Given the description of an element on the screen output the (x, y) to click on. 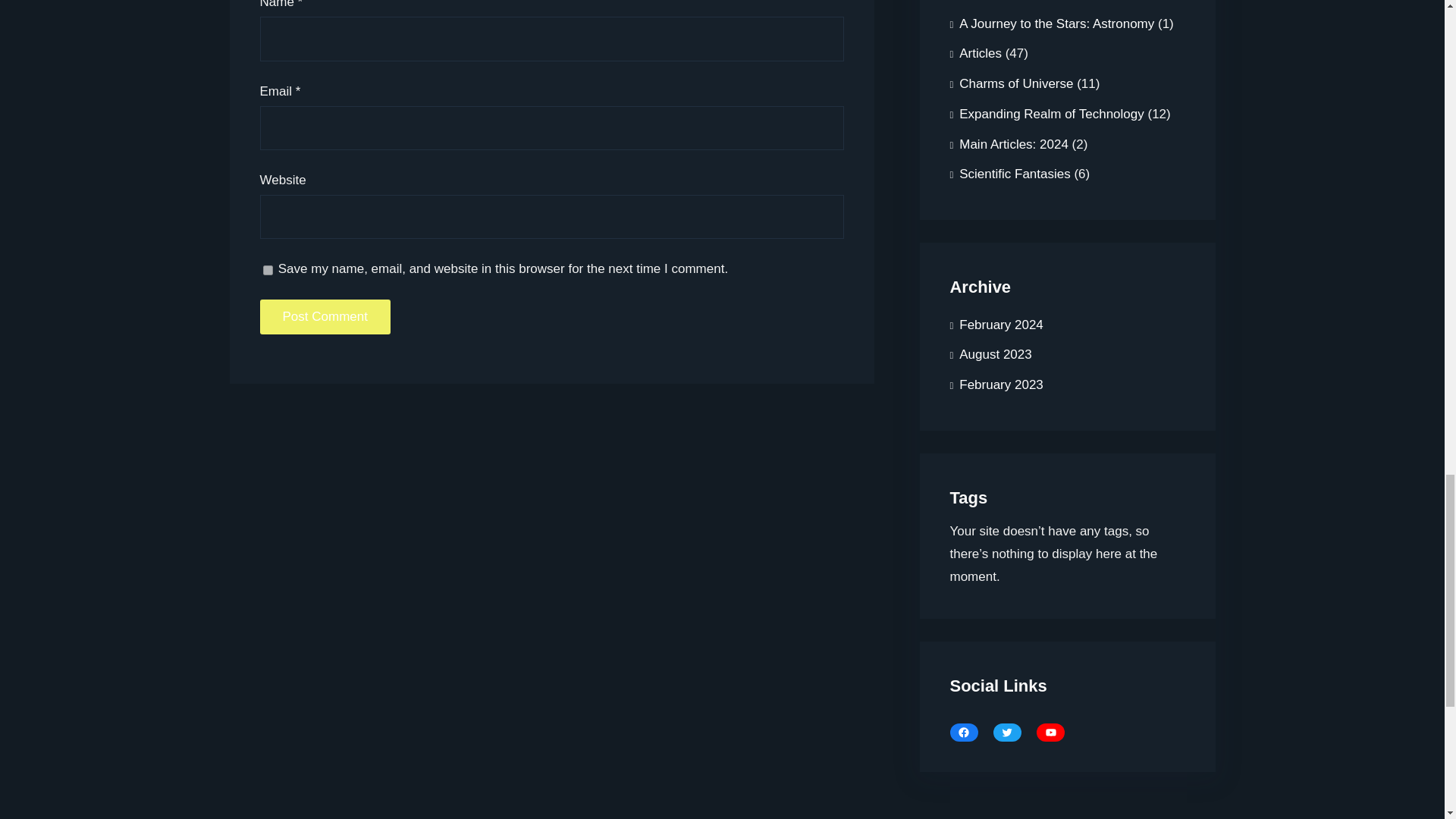
yes (267, 270)
August 2023 (989, 354)
Facebook (962, 732)
Articles (975, 53)
YouTube (1050, 732)
A Journey to the Stars: Astronomy (1051, 24)
Charms of Universe (1011, 83)
Main Articles: 2024 (1008, 144)
Scientific Fantasies (1009, 173)
Post Comment (324, 316)
Expanding Realm of Technology (1045, 114)
February 2024 (995, 325)
Post Comment (324, 316)
Twitter (1007, 732)
February 2023 (995, 385)
